Given the description of an element on the screen output the (x, y) to click on. 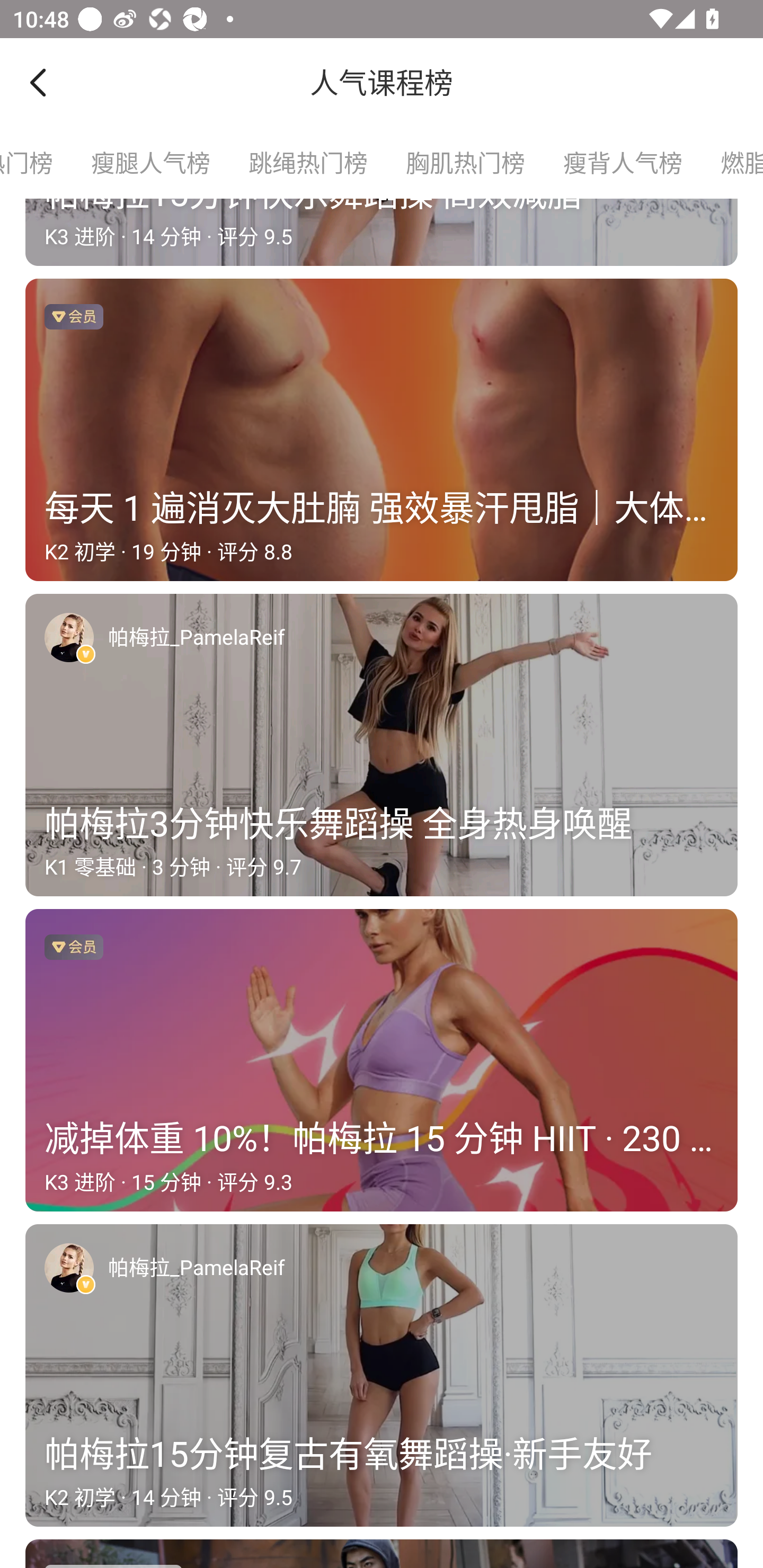
Left Button In Title Bar (50, 82)
瘦腿人气榜 (149, 163)
跳绳热门榜 (307, 163)
胸肌热门榜 (464, 163)
瘦背人气榜 (622, 163)
每天 1 遍消灭大肚腩 强效暴汗甩脂｜大体重专属 K2 初学 · 19 分钟 · 评分 8.8 (381, 430)
